Given the description of an element on the screen output the (x, y) to click on. 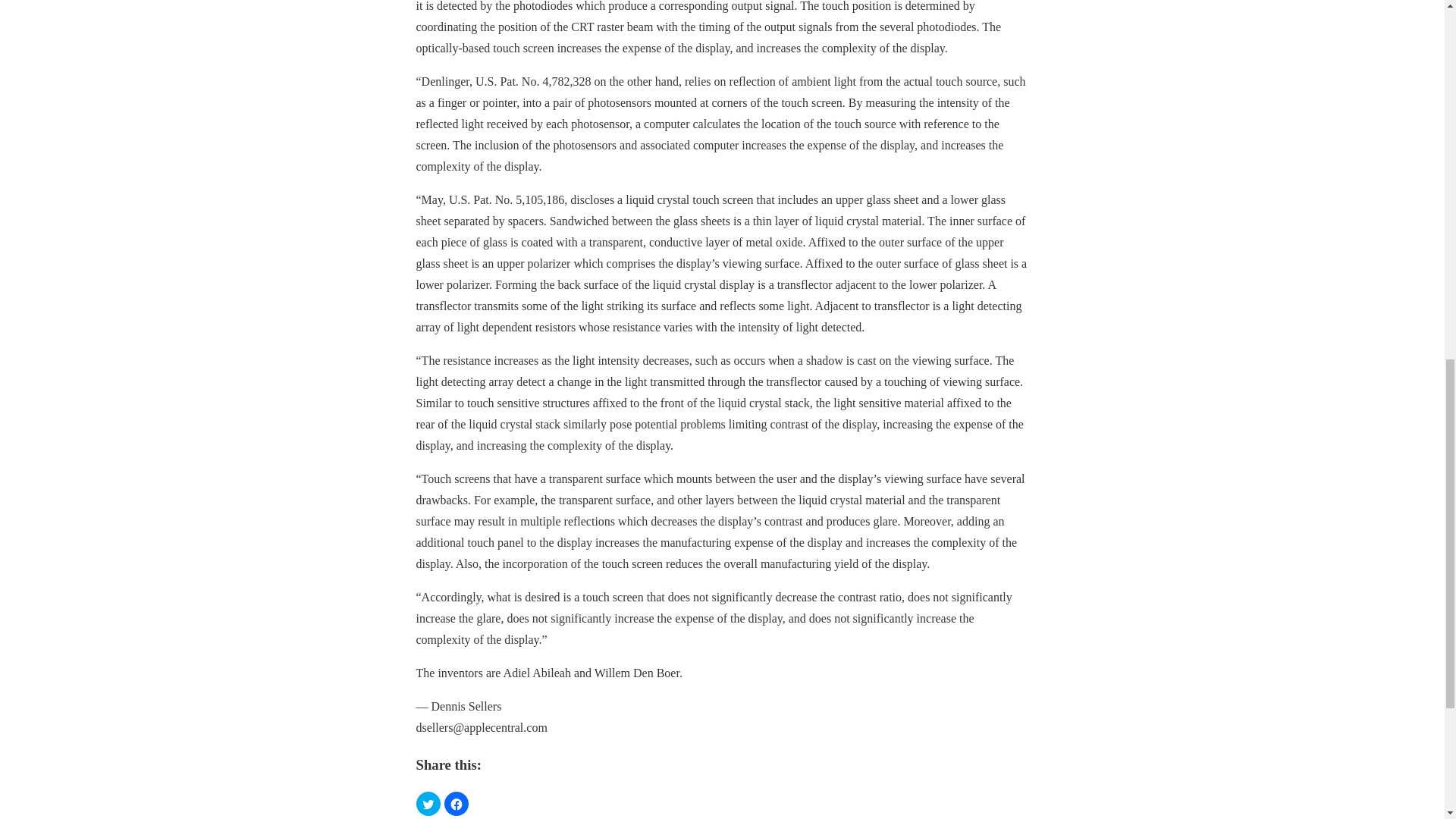
Click to share on Twitter (426, 803)
Click to share on Facebook (456, 803)
